Given the description of an element on the screen output the (x, y) to click on. 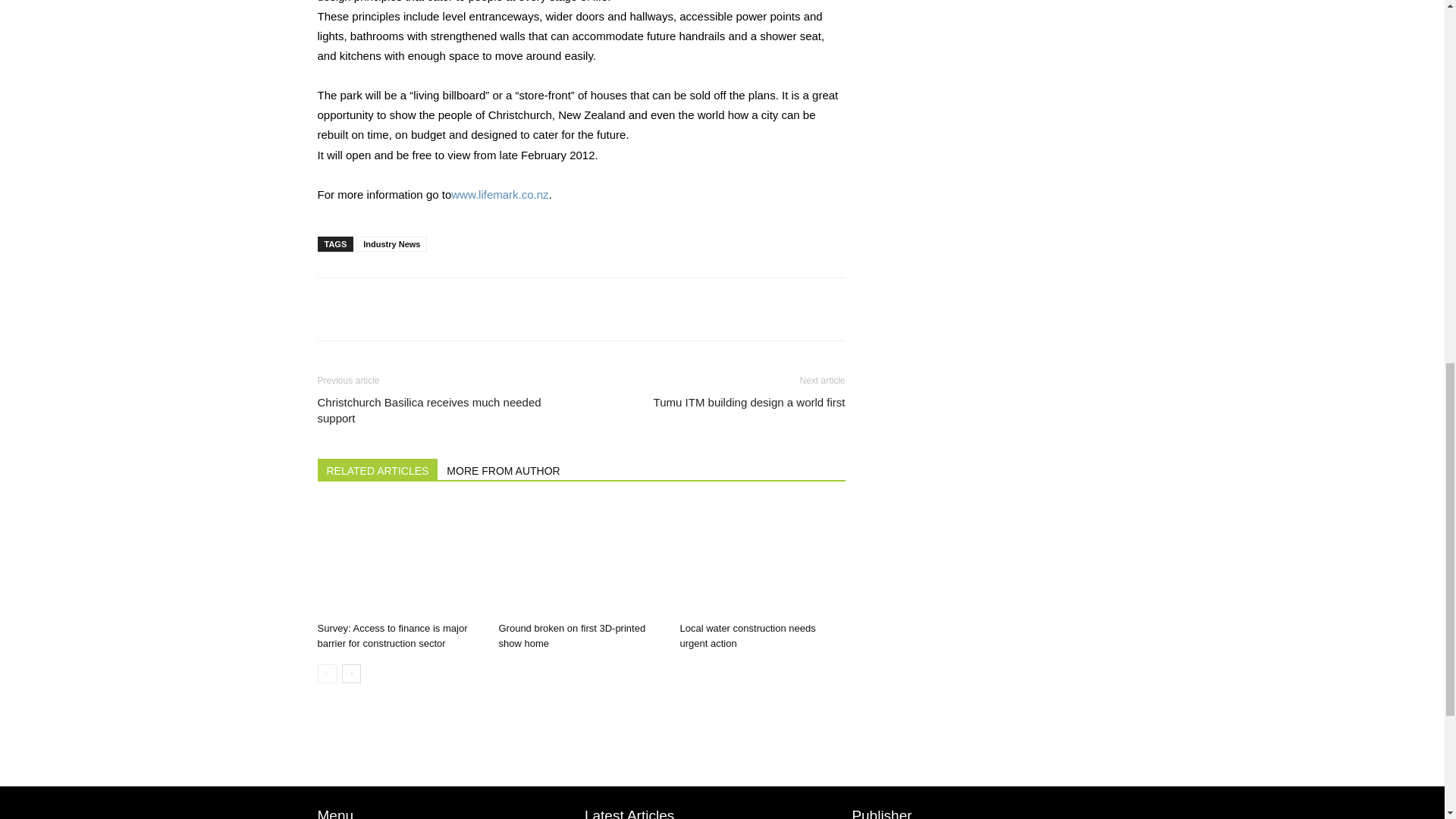
Ground broken on first 3D-printed show home (580, 558)
